Given the description of an element on the screen output the (x, y) to click on. 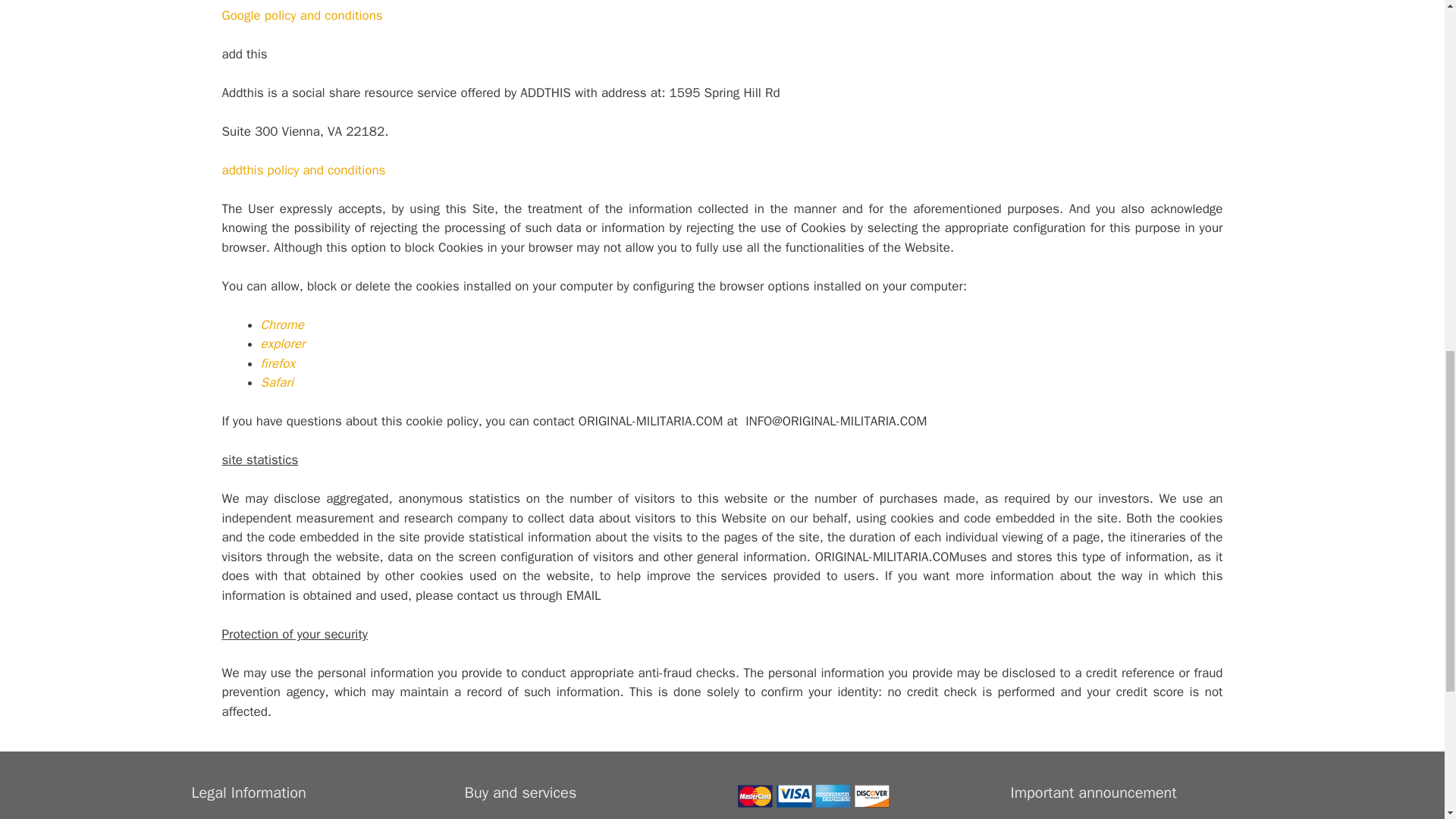
addthis policy and conditions (303, 170)
Chrome (282, 324)
firefox (277, 363)
Google policy and conditions (301, 15)
Safari (277, 382)
explorer (282, 343)
